Given the description of an element on the screen output the (x, y) to click on. 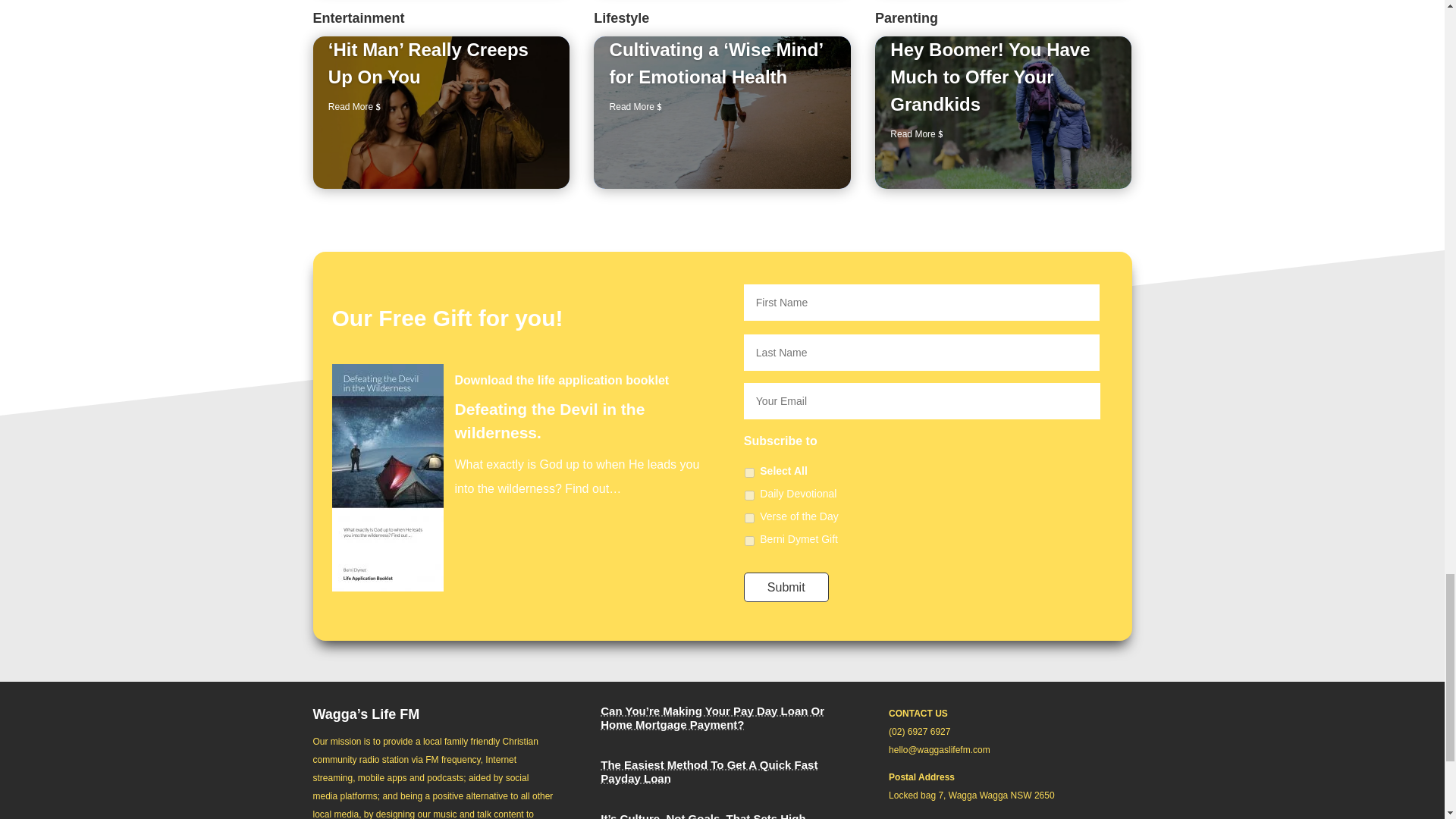
Daily Devotional (749, 495)
Berni Dymet Gift (749, 541)
on (749, 472)
Submit (786, 586)
Verse of the Day (749, 518)
